Given the description of an element on the screen output the (x, y) to click on. 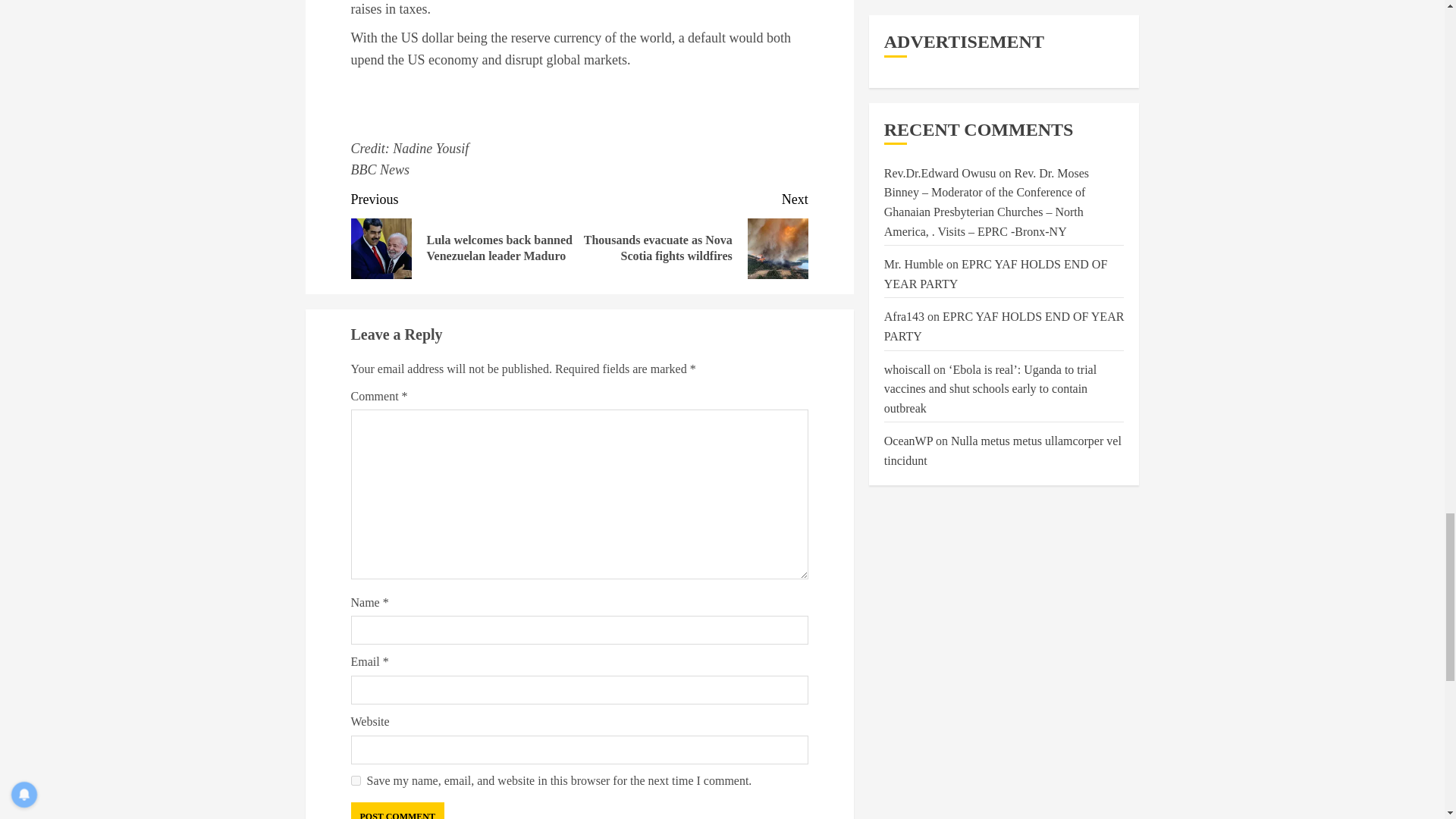
Post Comment (397, 810)
yes (354, 780)
